Given the description of an element on the screen output the (x, y) to click on. 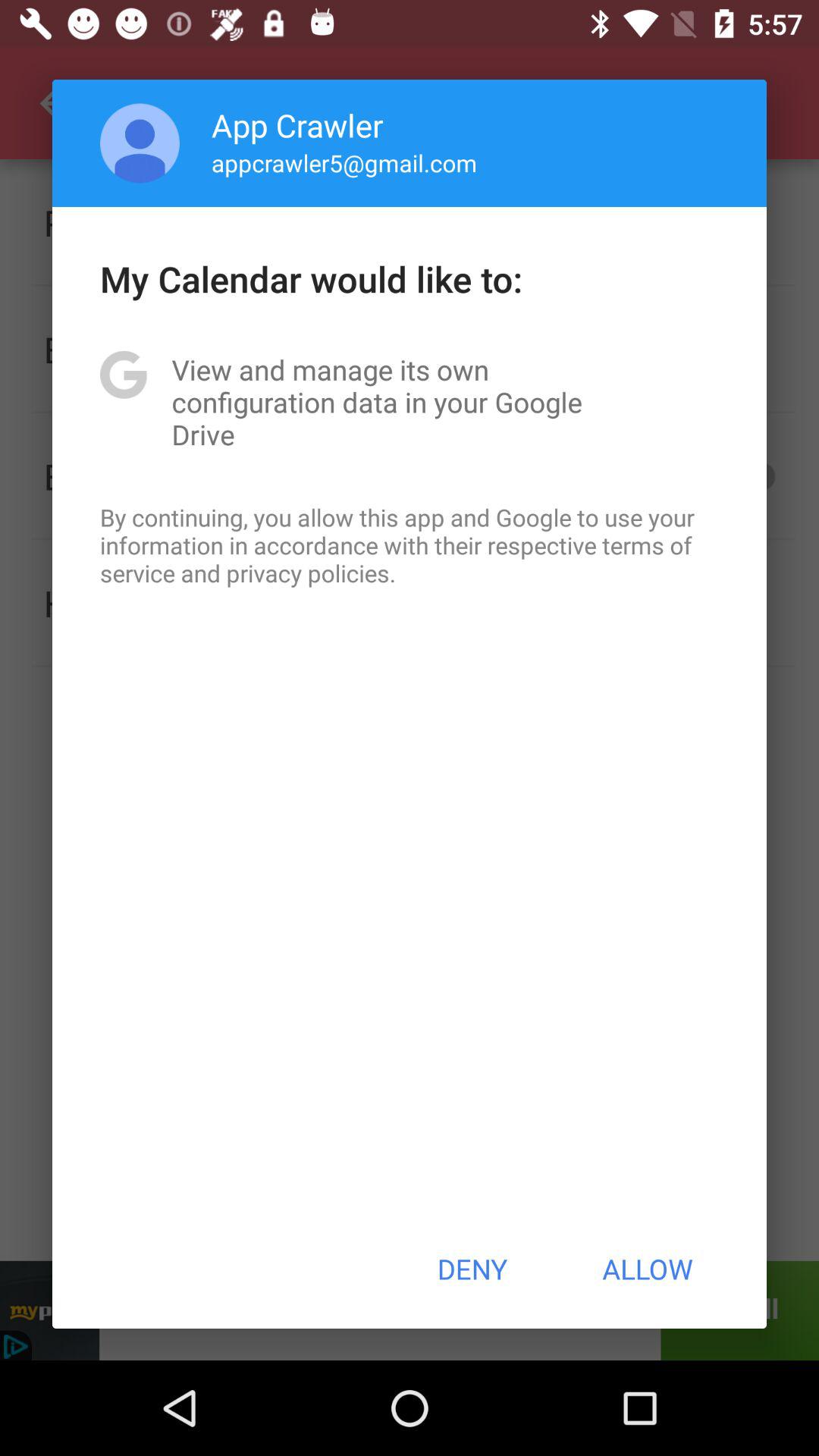
scroll until the deny icon (471, 1268)
